Given the description of an element on the screen output the (x, y) to click on. 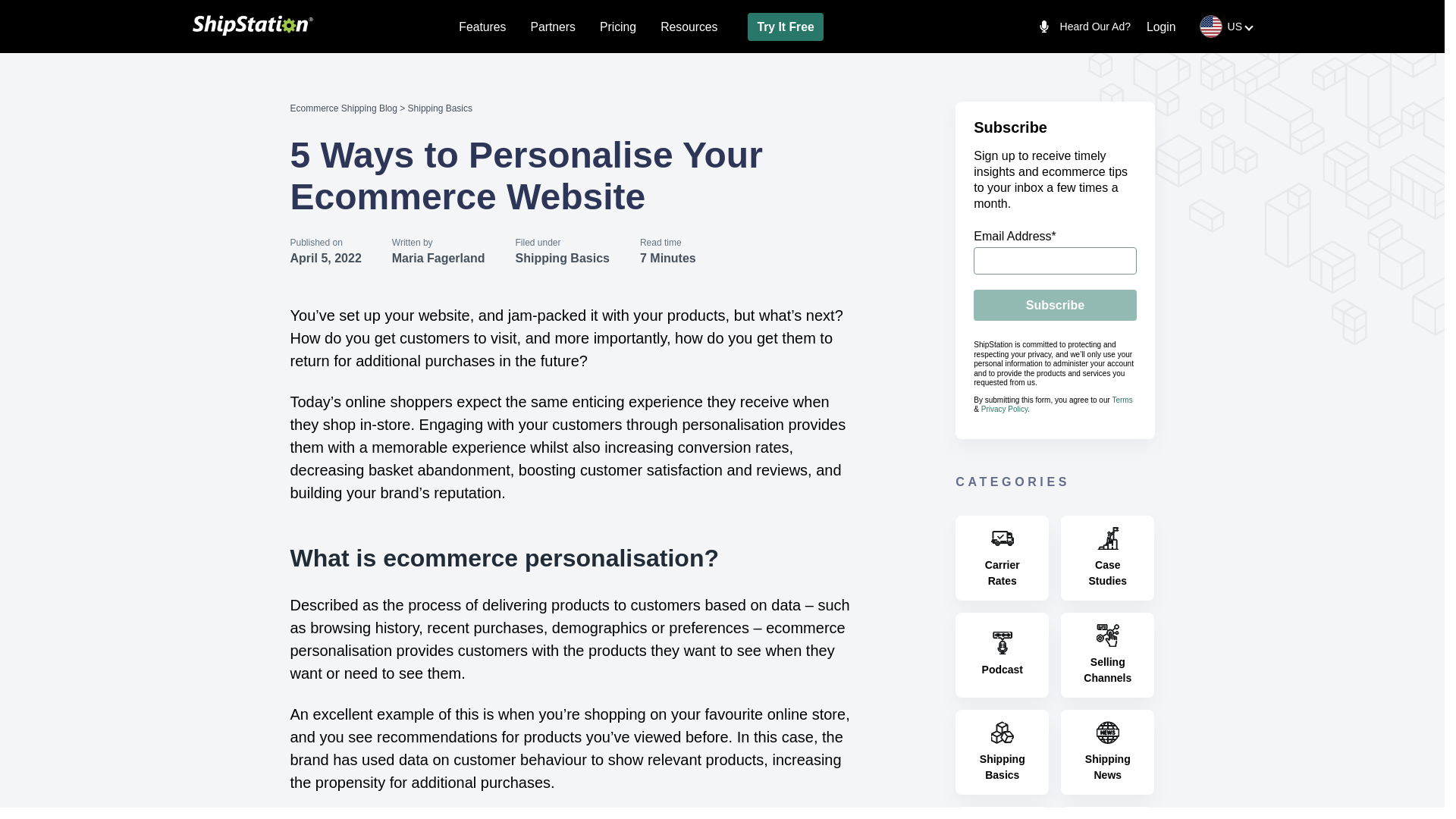
Partners (552, 26)
Pricing (617, 26)
Features (481, 26)
Resources (689, 26)
Subscribe (1054, 305)
Try It Free (785, 26)
Posts by Maria Fagerland (437, 257)
